Given the description of an element on the screen output the (x, y) to click on. 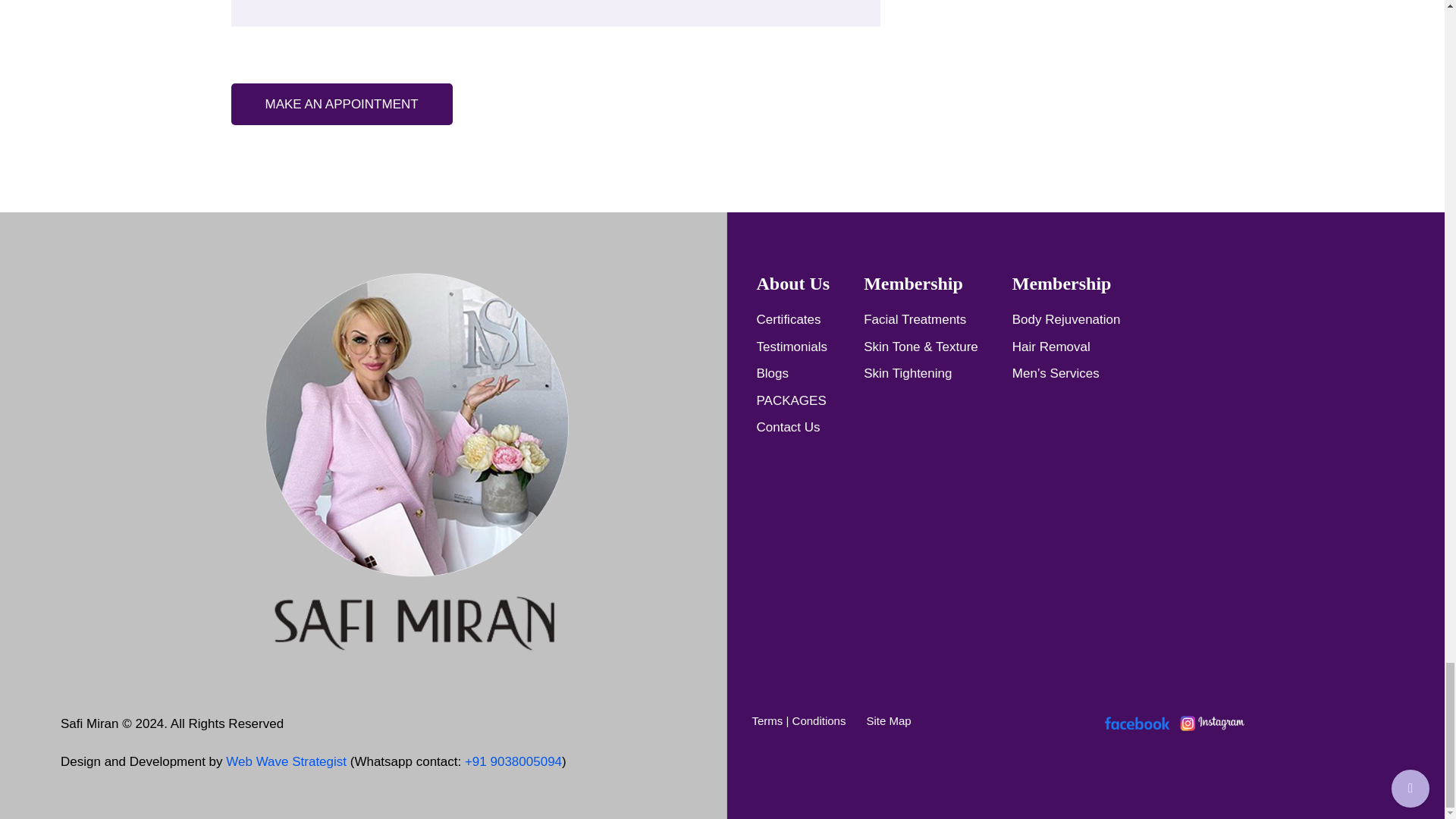
MAKE AN APPOINTMENT (340, 104)
